Given the description of an element on the screen output the (x, y) to click on. 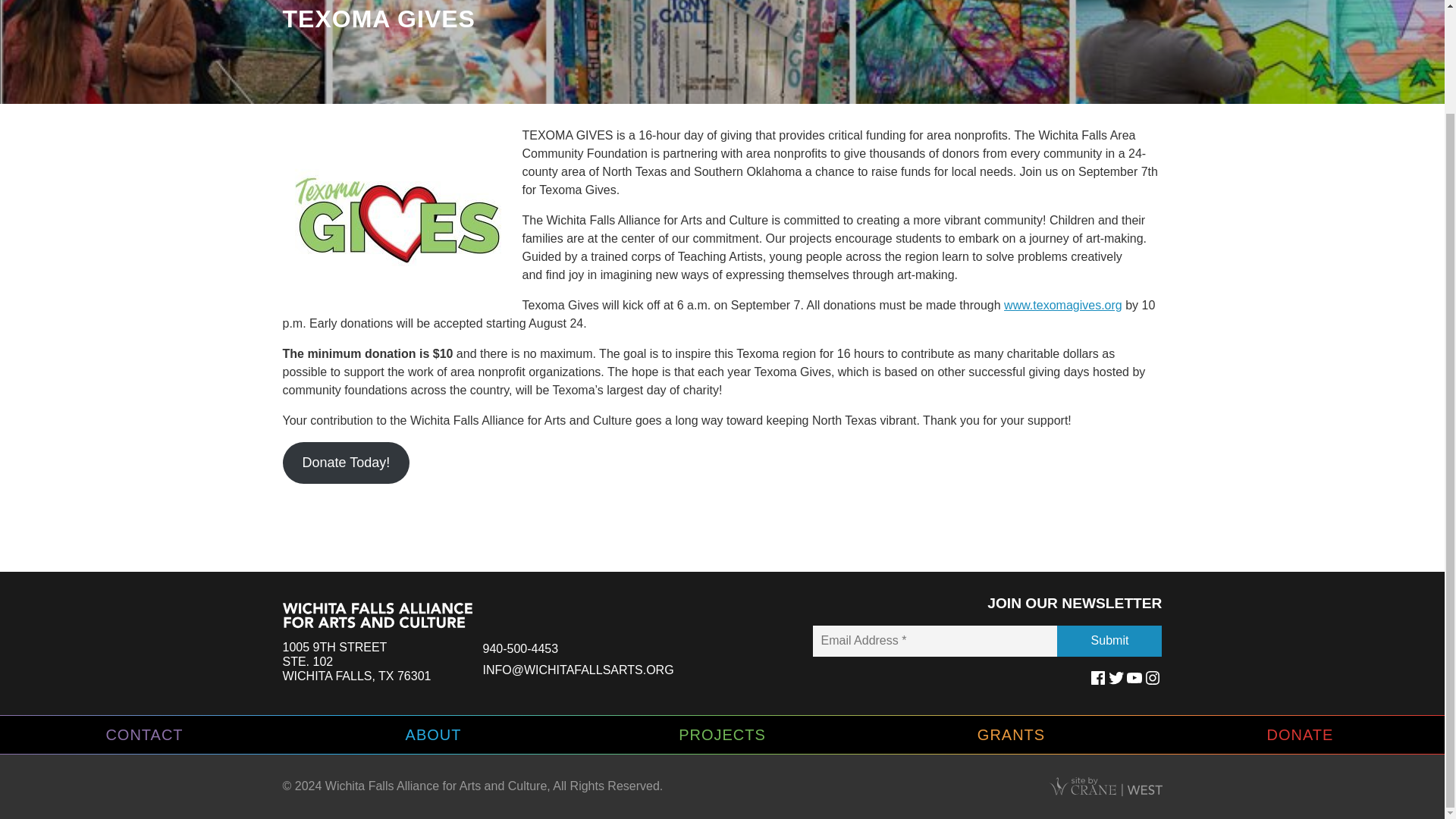
Donate Today! (345, 463)
www.texomagives.org (1063, 305)
Submit (1109, 640)
940-500-4453 (519, 648)
Get Directions (356, 661)
Submit (1109, 640)
